Given the description of an element on the screen output the (x, y) to click on. 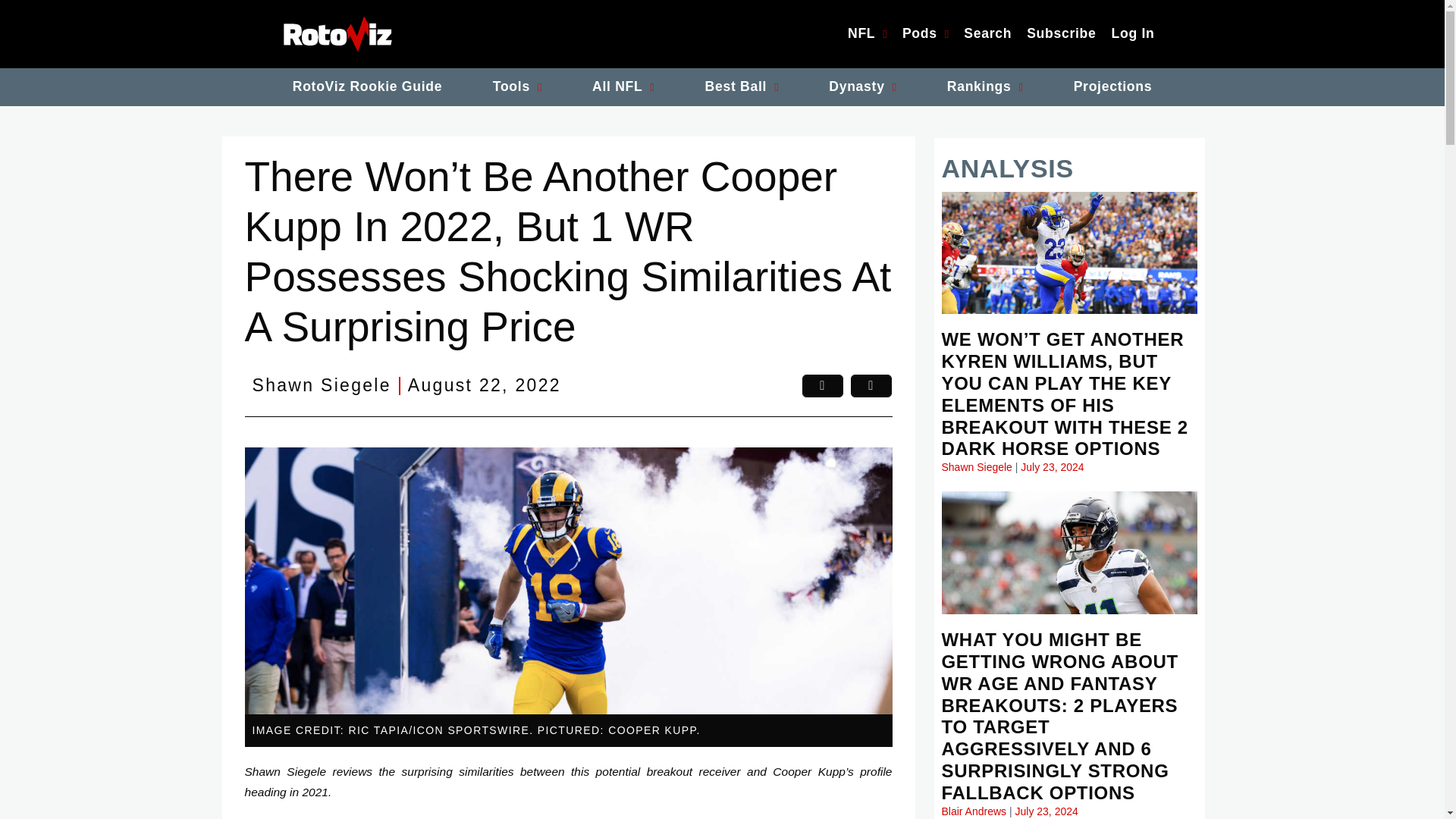
Subscribe (1061, 34)
Search (987, 34)
RotoViz (336, 33)
Log In (1132, 34)
Pods (925, 34)
NFL (867, 34)
